Given the description of an element on the screen output the (x, y) to click on. 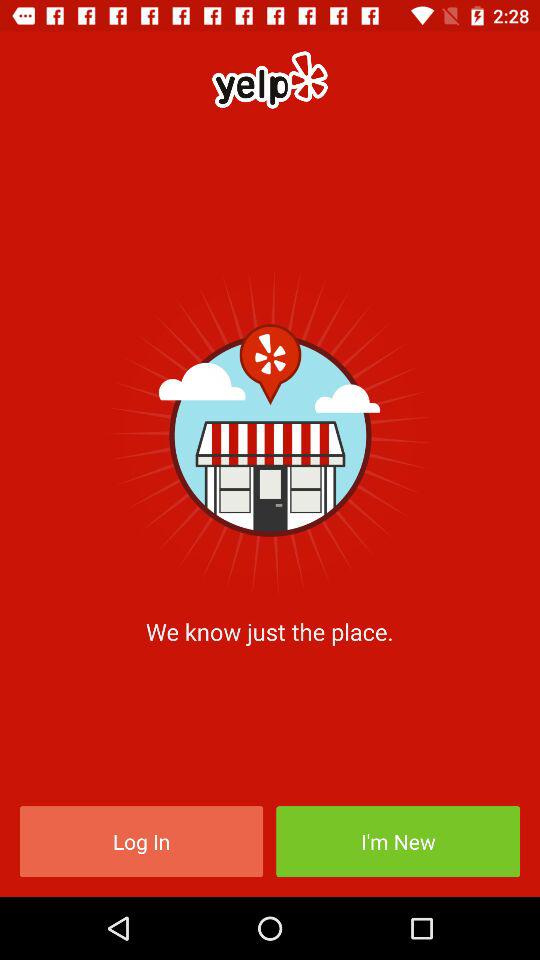
open the icon at the bottom right corner (398, 841)
